Given the description of an element on the screen output the (x, y) to click on. 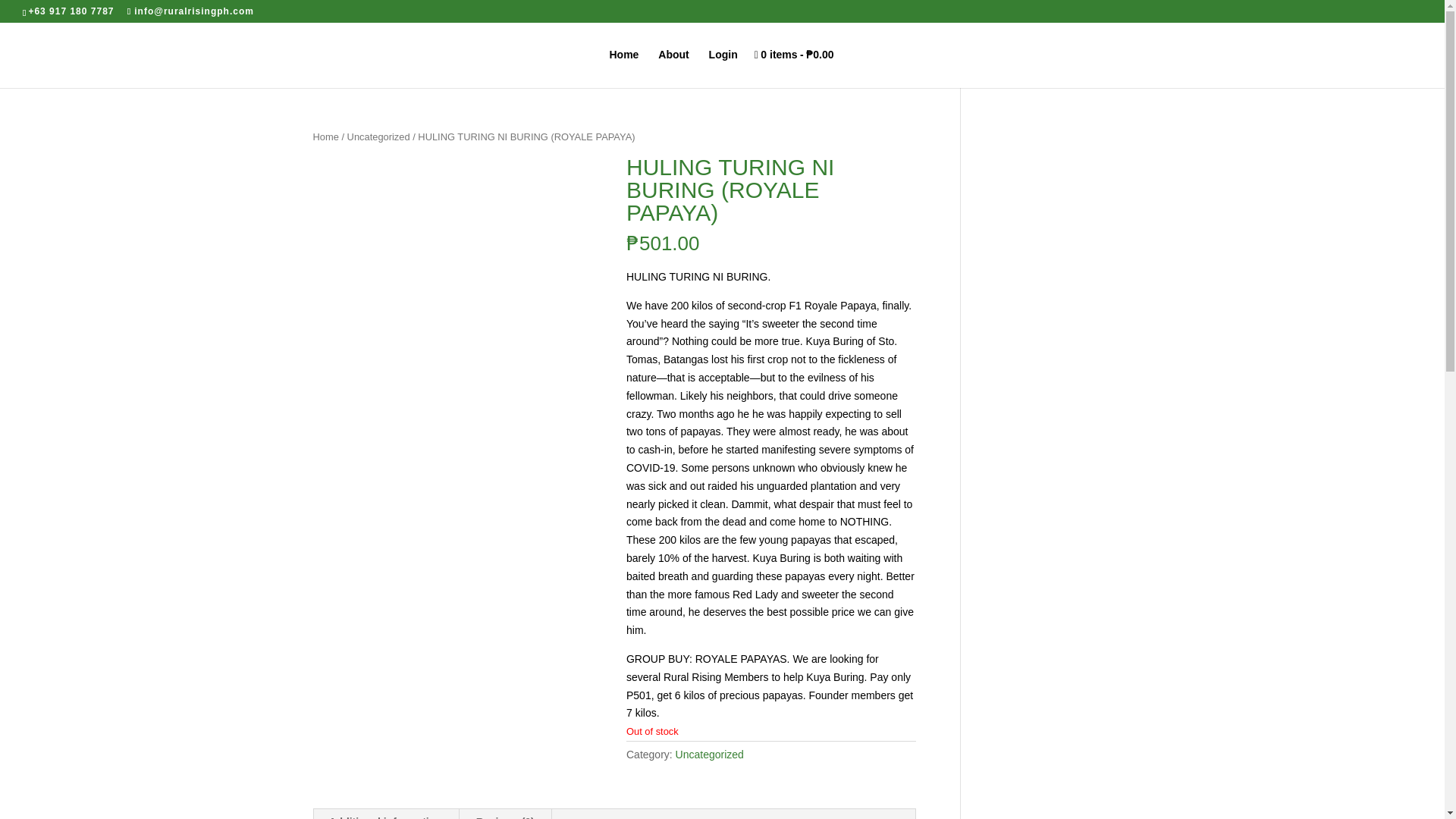
Uncategorized (378, 136)
Start shopping (794, 68)
Home (325, 136)
Uncategorized (709, 754)
Additional information (385, 814)
